Given the description of an element on the screen output the (x, y) to click on. 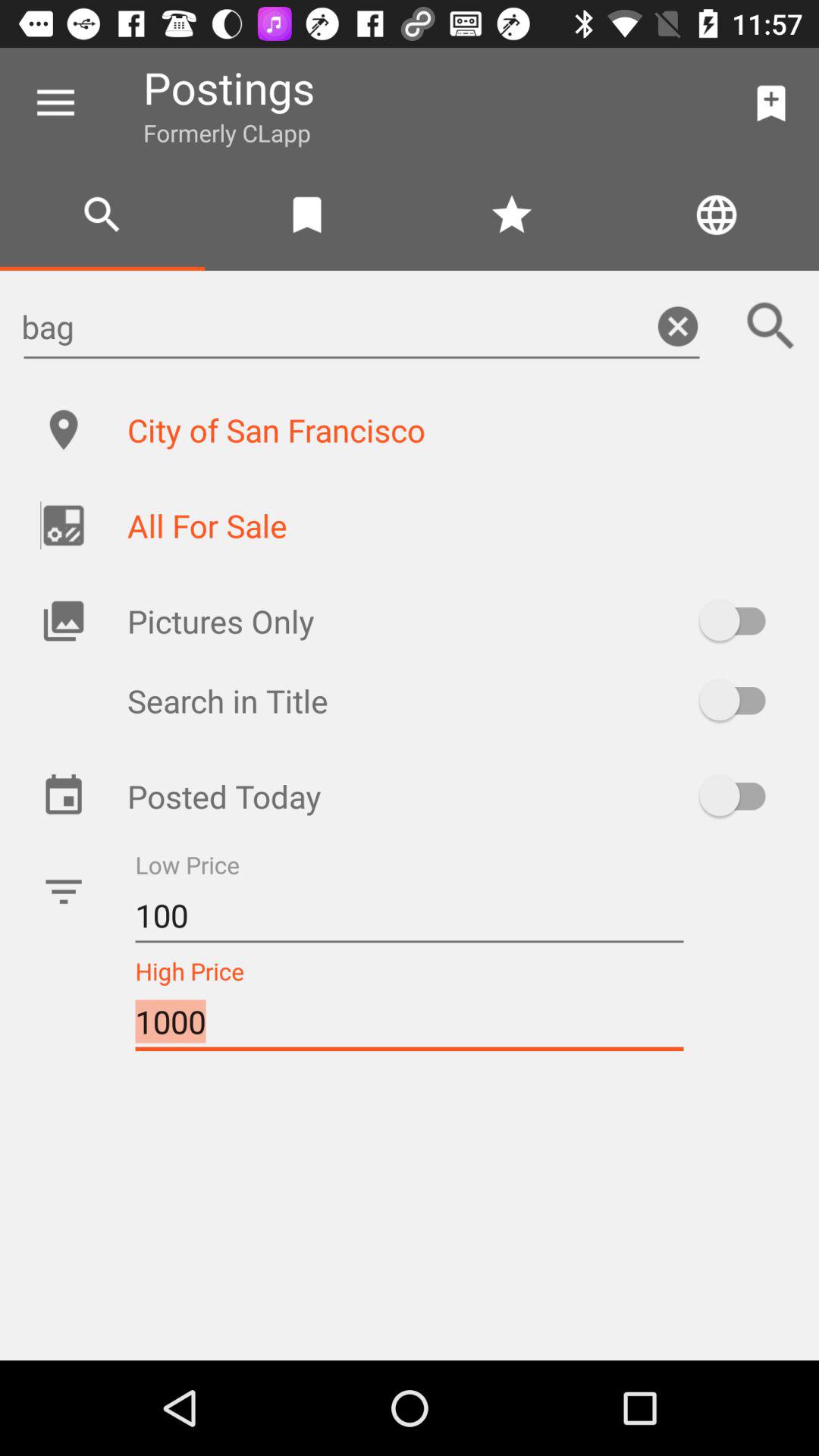
scroll until the city of san item (457, 429)
